Given the description of an element on the screen output the (x, y) to click on. 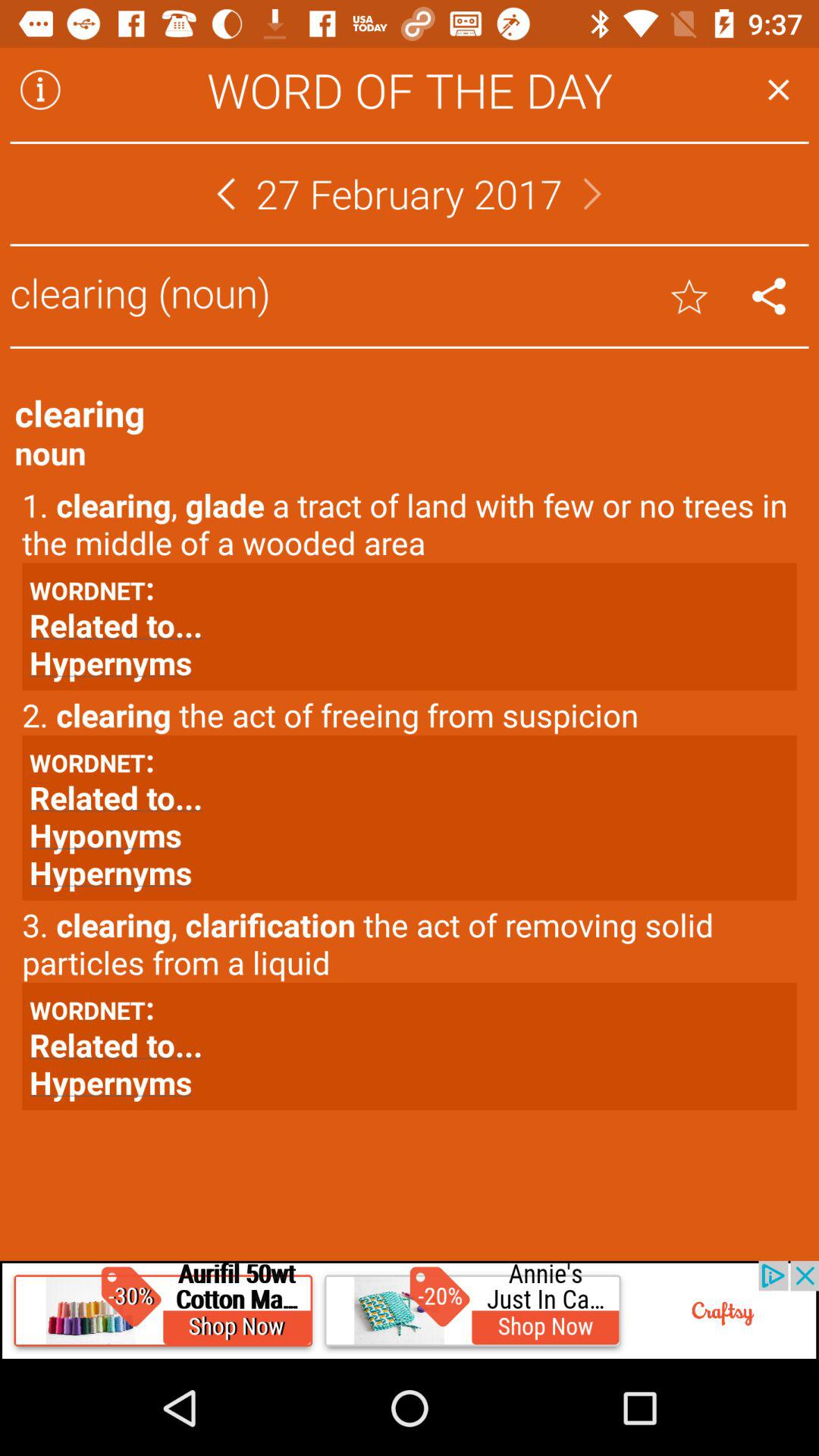
going next date (592, 193)
